Given the description of an element on the screen output the (x, y) to click on. 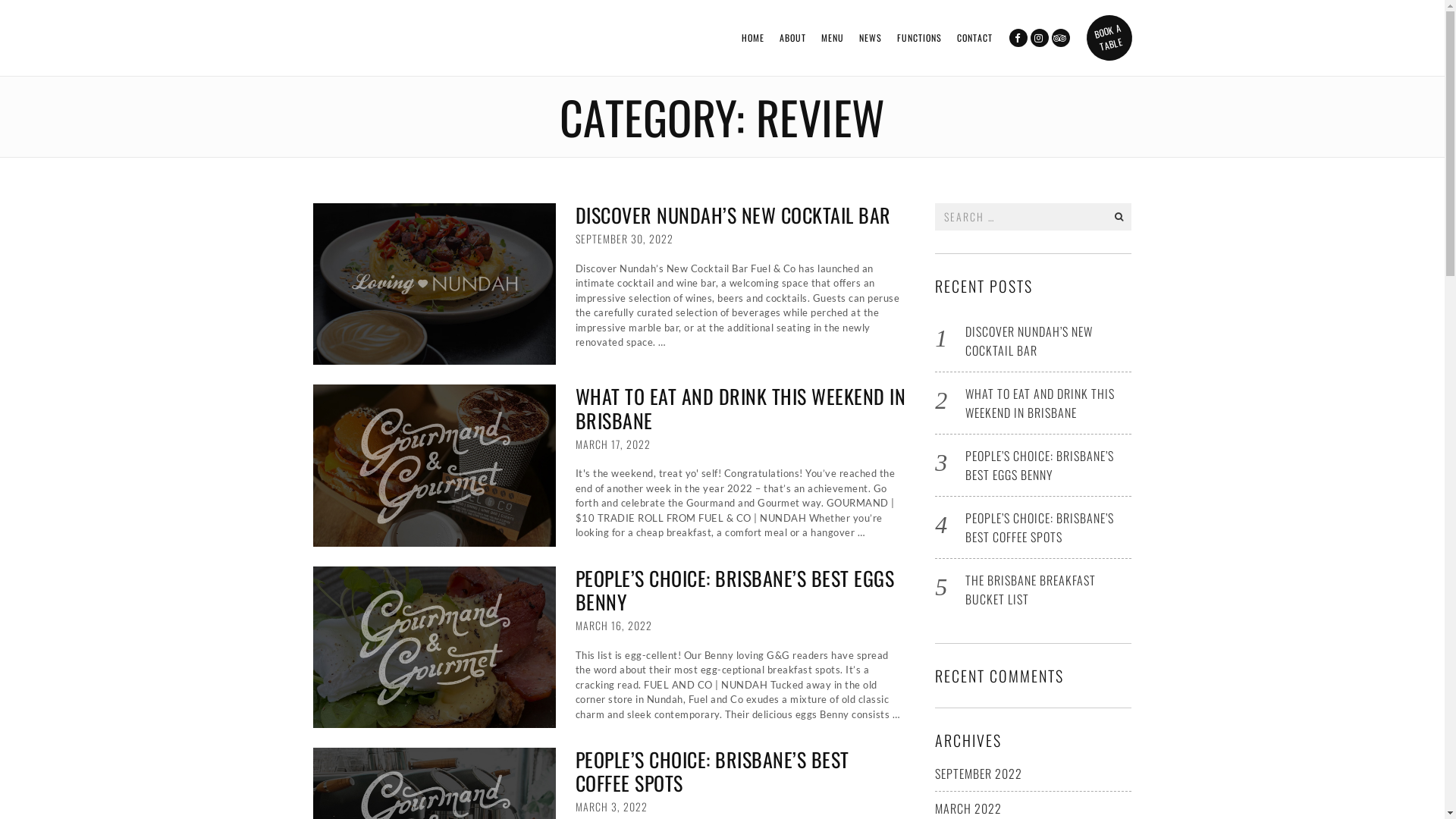
CONTACT Element type: text (974, 37)
THE BRISBANE BREAKFAST BUCKET LIST Element type: text (1030, 589)
BOOK A
TABLE Element type: text (1103, 32)
FUNCTIONS Element type: text (918, 37)
WHAT TO EAT AND DRINK THIS WEEKEND IN BRISBANE Element type: text (1039, 402)
HOME Element type: text (752, 37)
WHAT TO EAT AND DRINK THIS WEEKEND IN BRISBANE Element type: text (739, 407)
MARCH 3, 2022
MARCH 28, 2022 Element type: text (610, 806)
ABOUT Element type: text (792, 37)
Go Element type: hover (1118, 216)
SEPTEMBER 2022 Element type: text (978, 773)
MENU Element type: text (831, 37)
MARCH 16, 2022
MARCH 28, 2022 Element type: text (612, 625)
NEWS Element type: text (869, 37)
SEPTEMBER 30, 2022
SEPTEMBER 30, 2022 Element type: text (623, 238)
MARCH 2022 Element type: text (968, 808)
MARCH 17, 2022
MARCH 28, 2022 Element type: text (611, 443)
